Given the description of an element on the screen output the (x, y) to click on. 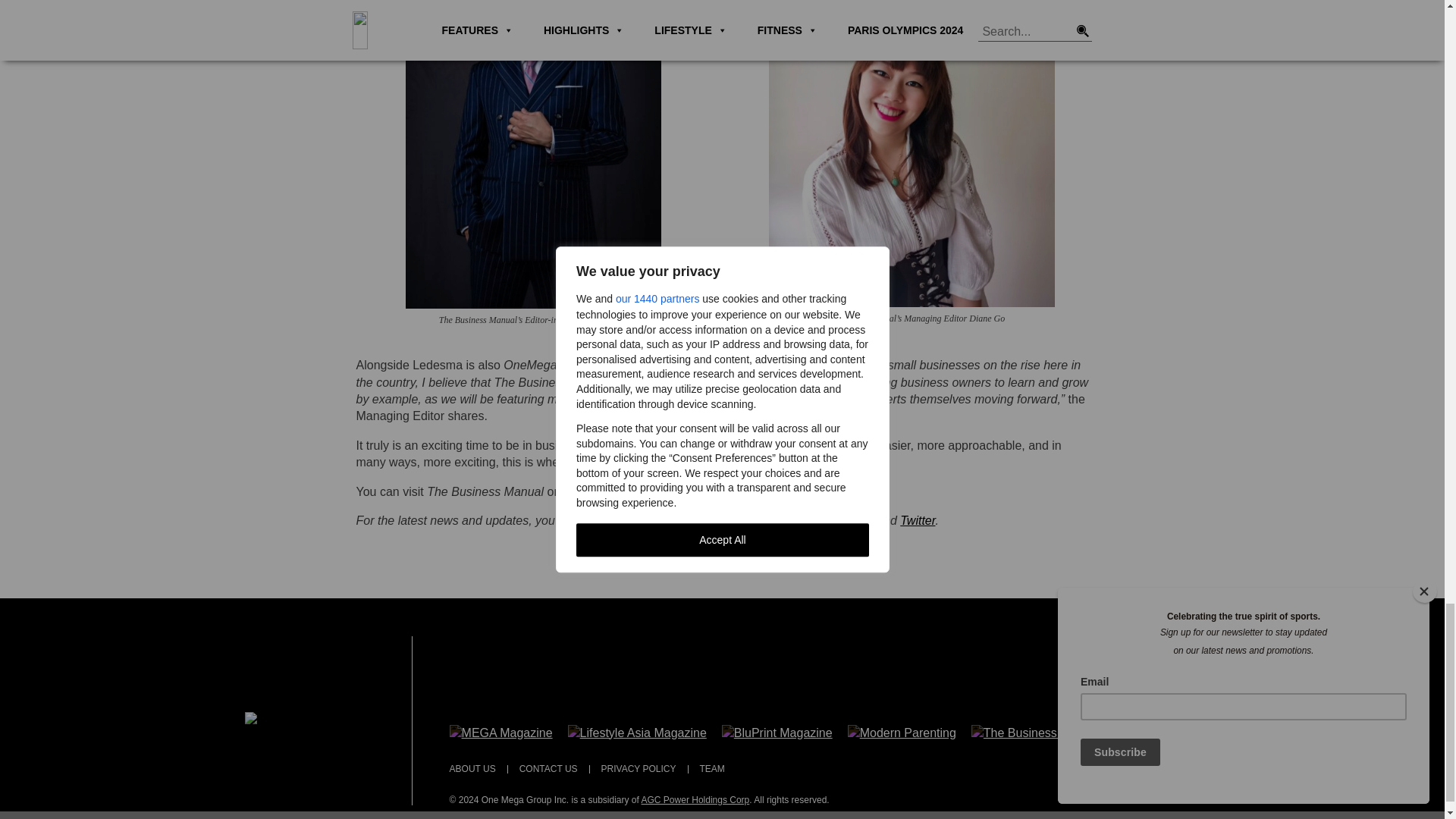
The Business Manual (1035, 731)
One Mega Group Inc. (309, 719)
Lifestyle Asia Magazine (636, 731)
MEGA Magazine (501, 731)
Modern Parenting (901, 731)
The Game (1150, 731)
BluPrint Magazine (777, 731)
